Given the description of an element on the screen output the (x, y) to click on. 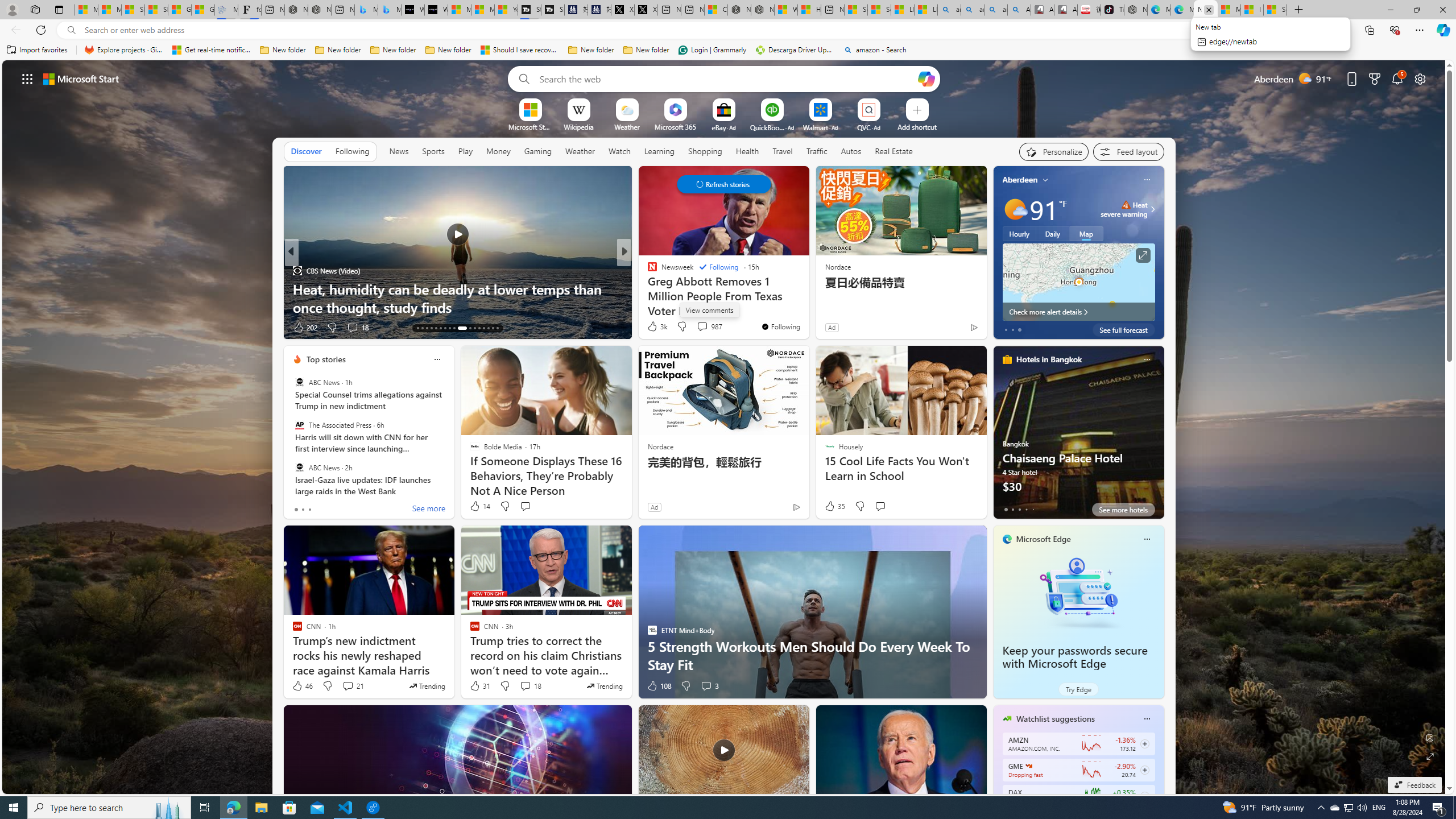
amazon - Search Images (995, 9)
View comments 156 Comment (6, 327)
Autos (850, 151)
Sports (432, 151)
Feed settings (1128, 151)
Nordace - Summer Adventures 2024 (761, 9)
See full forecast (1123, 329)
News (398, 151)
tab-2 (1019, 509)
Add this page to favorites (Ctrl+D) (1314, 29)
